Given the description of an element on the screen output the (x, y) to click on. 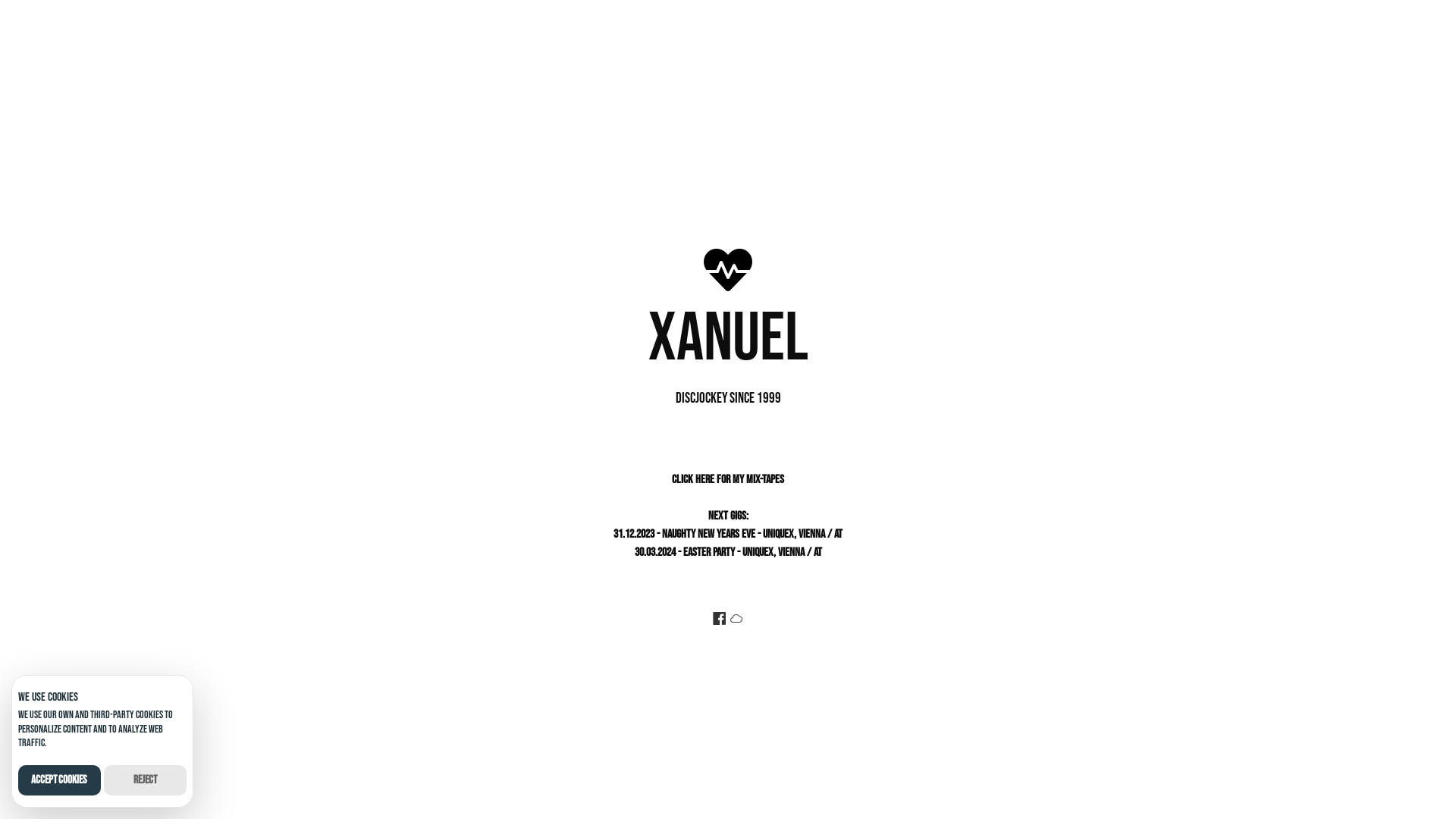
Accept cookies Element type: text (59, 780)
CLICK HERE FOR MY MIX-TAPES Element type: text (727, 479)
31.12.2023 - Naughty new years eve - UniqueX, Vienna / AT Element type: text (727, 534)
XANUEL @ MIXCLOUD Element type: hover (735, 619)
XANUEL

discjockey since 1999 Element type: text (727, 344)
Reject Element type: text (144, 780)
XANUEL @ FACEBOOK FAN SITE Element type: hover (718, 619)
